Given the description of an element on the screen output the (x, y) to click on. 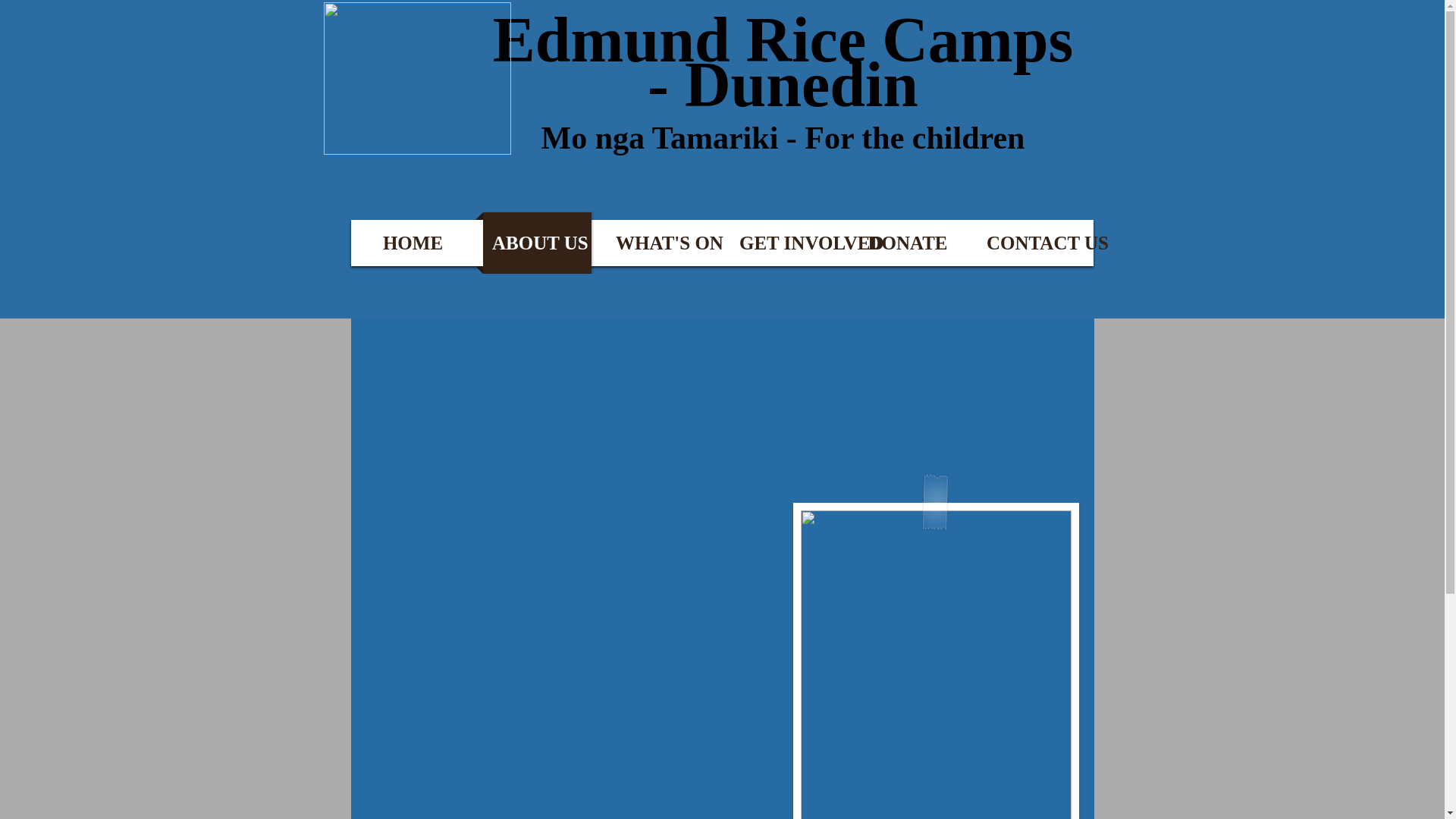
HOME (412, 242)
DONATE (907, 242)
ABOUT US (536, 242)
CONTACT US (1031, 242)
GET INVOLVED (783, 242)
balloon.png (417, 78)
WHAT'S ON (660, 242)
Edmund Rice Camps - Dunedin (783, 61)
